Given the description of an element on the screen output the (x, y) to click on. 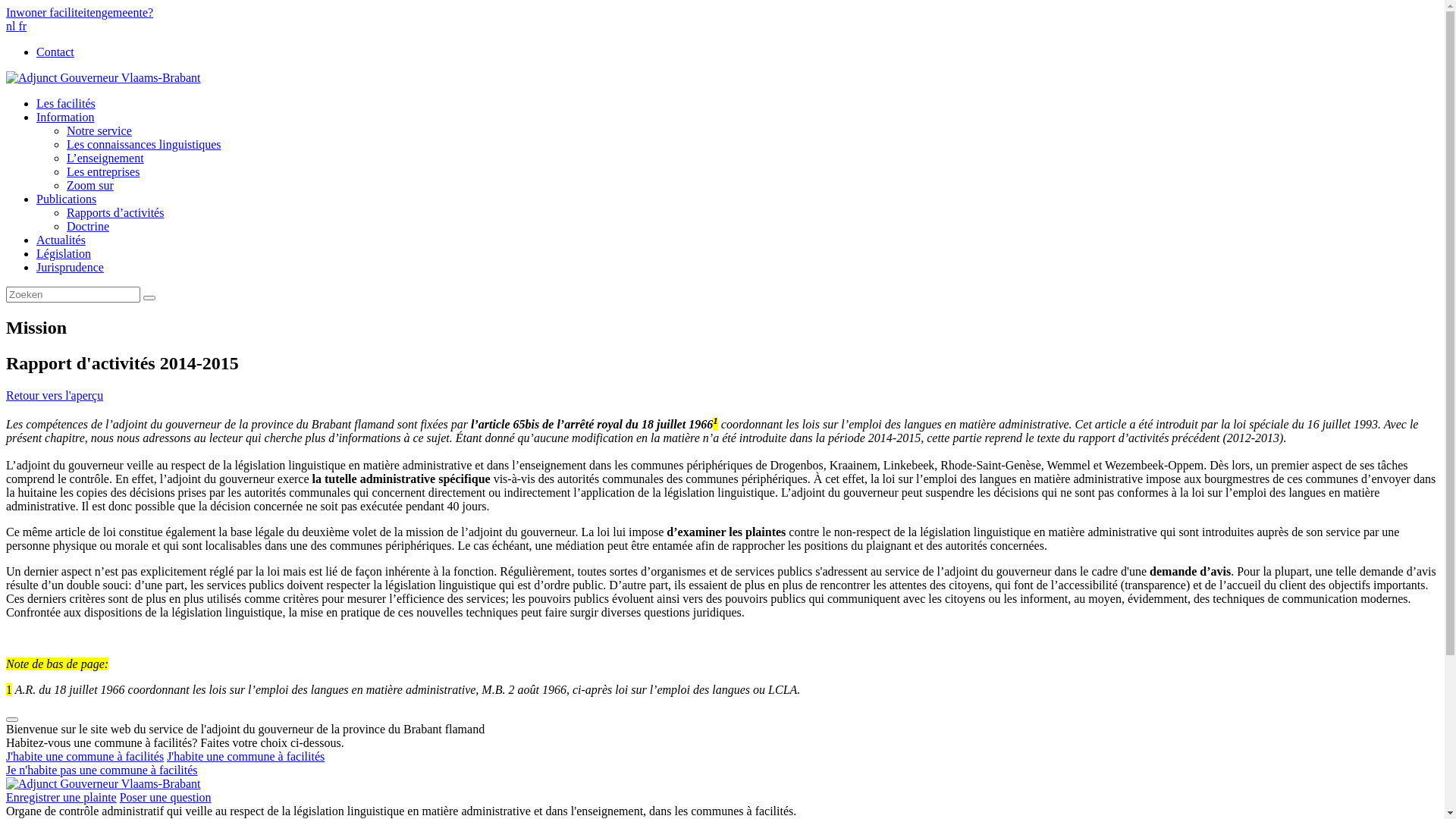
Enregistrer une plainte Element type: text (61, 796)
Information Element type: text (65, 116)
Poser une question Element type: text (165, 796)
Contact Element type: text (55, 51)
Homepage Element type: hover (103, 783)
Jurisprudence Element type: text (69, 266)
Homepage Element type: hover (103, 77)
fr Element type: text (22, 25)
Zoom sur Element type: text (89, 184)
Inwoner faciliteitengemeente? Element type: text (79, 12)
Les entreprises Element type: text (102, 171)
Doctrine Element type: text (87, 225)
Publications Element type: text (66, 198)
Les connaissances linguistiques Element type: text (143, 144)
Notre service Element type: text (98, 130)
nl Element type: text (12, 25)
